Given the description of an element on the screen output the (x, y) to click on. 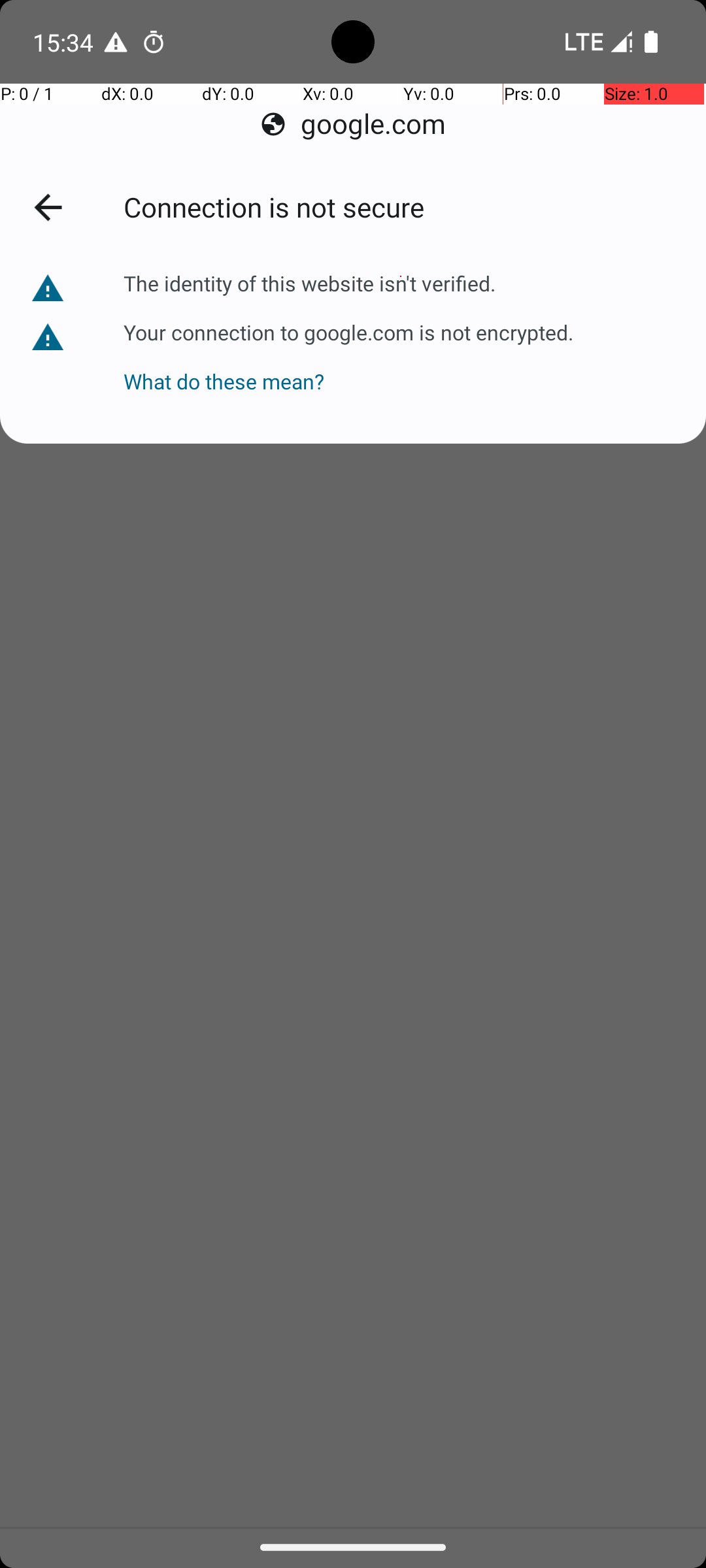
Back Element type: android.widget.ImageButton (56, 209)
Connection is not secure Element type: android.widget.TextView (399, 209)
The identity of this website isn't verified. Element type: android.widget.TextView (311, 283)
Your connection to google.com is not encrypted. Element type: android.widget.TextView (348, 330)
What do these mean? Element type: android.widget.TextView (348, 368)
